Given the description of an element on the screen output the (x, y) to click on. 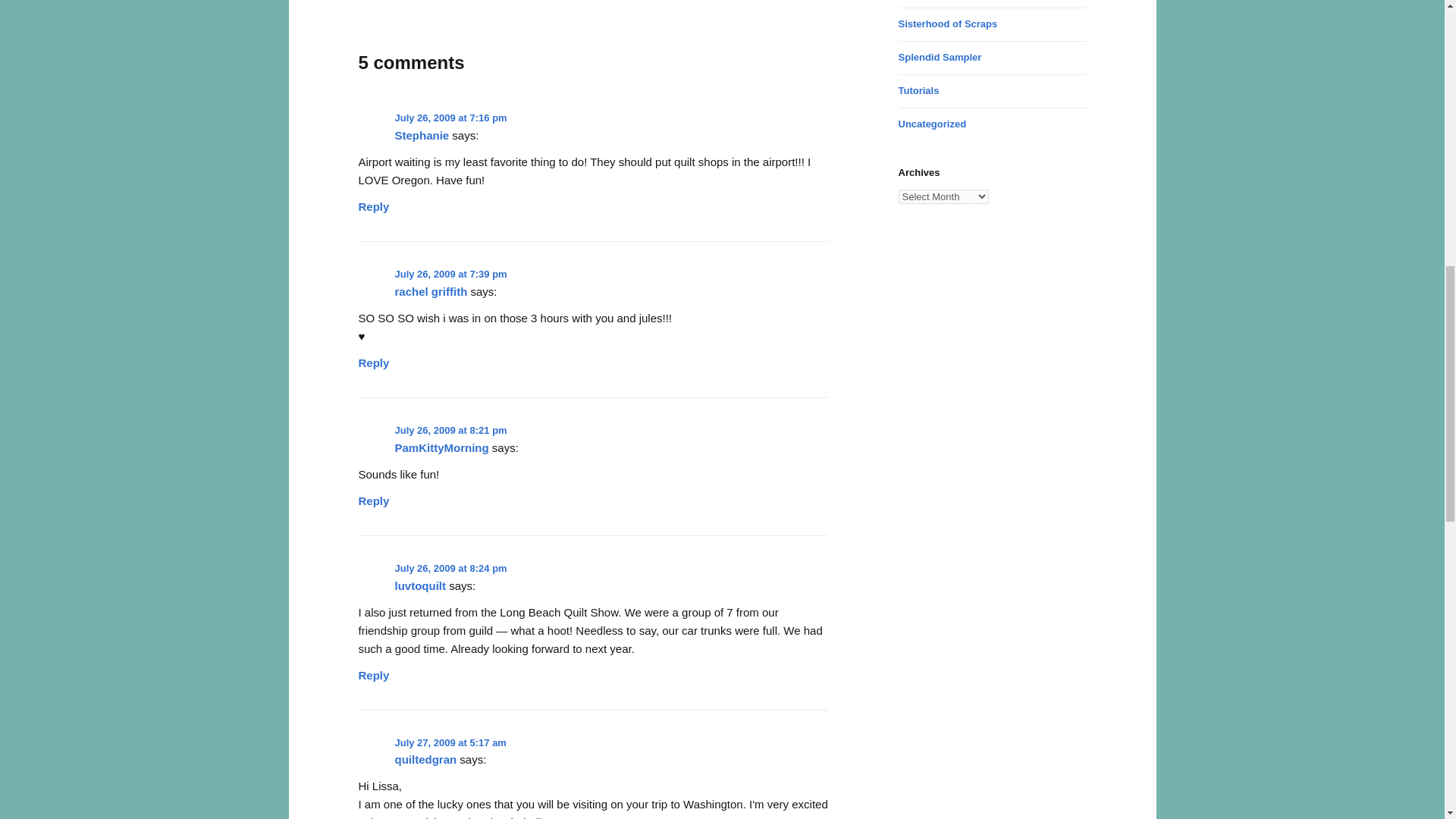
July 26, 2009 at 7:16 pm (450, 117)
rachel griffith (430, 291)
July 26, 2009 at 8:21 pm (450, 430)
July 26, 2009 at 8:24 pm (450, 568)
quiltedgran (425, 758)
July 27, 2009 at 5:17 am (449, 742)
Reply (373, 496)
PamKittyMorning (440, 447)
Reply (373, 201)
luvtoquilt (419, 585)
